Given the description of an element on the screen output the (x, y) to click on. 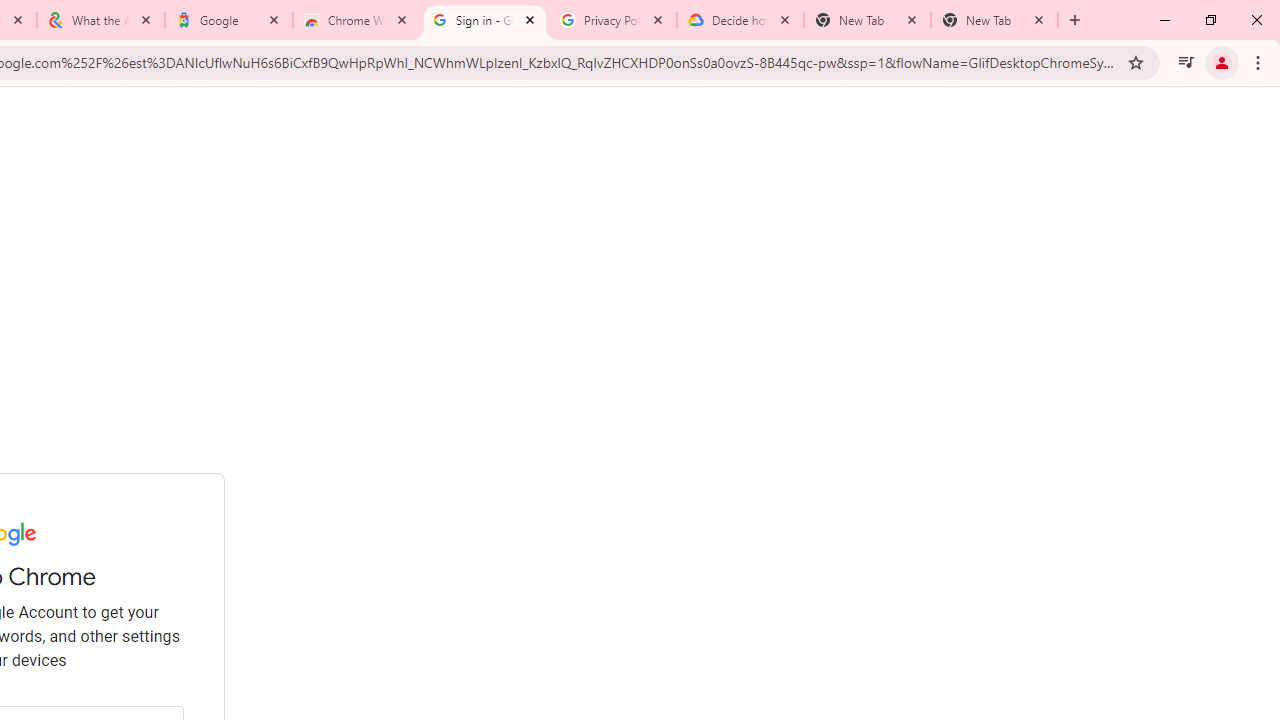
New Tab (994, 20)
Google (229, 20)
Chrome Web Store - Color themes by Chrome (357, 20)
Sign in - Google Accounts (485, 20)
